Given the description of an element on the screen output the (x, y) to click on. 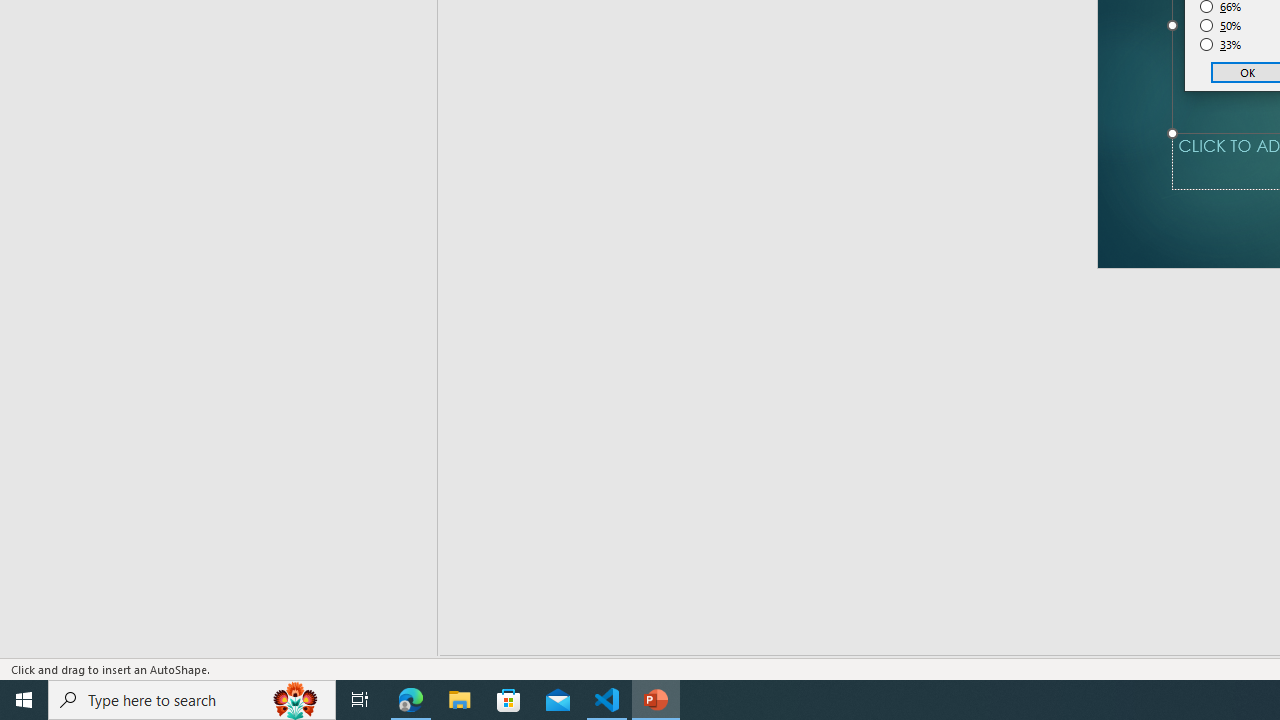
50% (1221, 25)
33% (1221, 44)
